Given the description of an element on the screen output the (x, y) to click on. 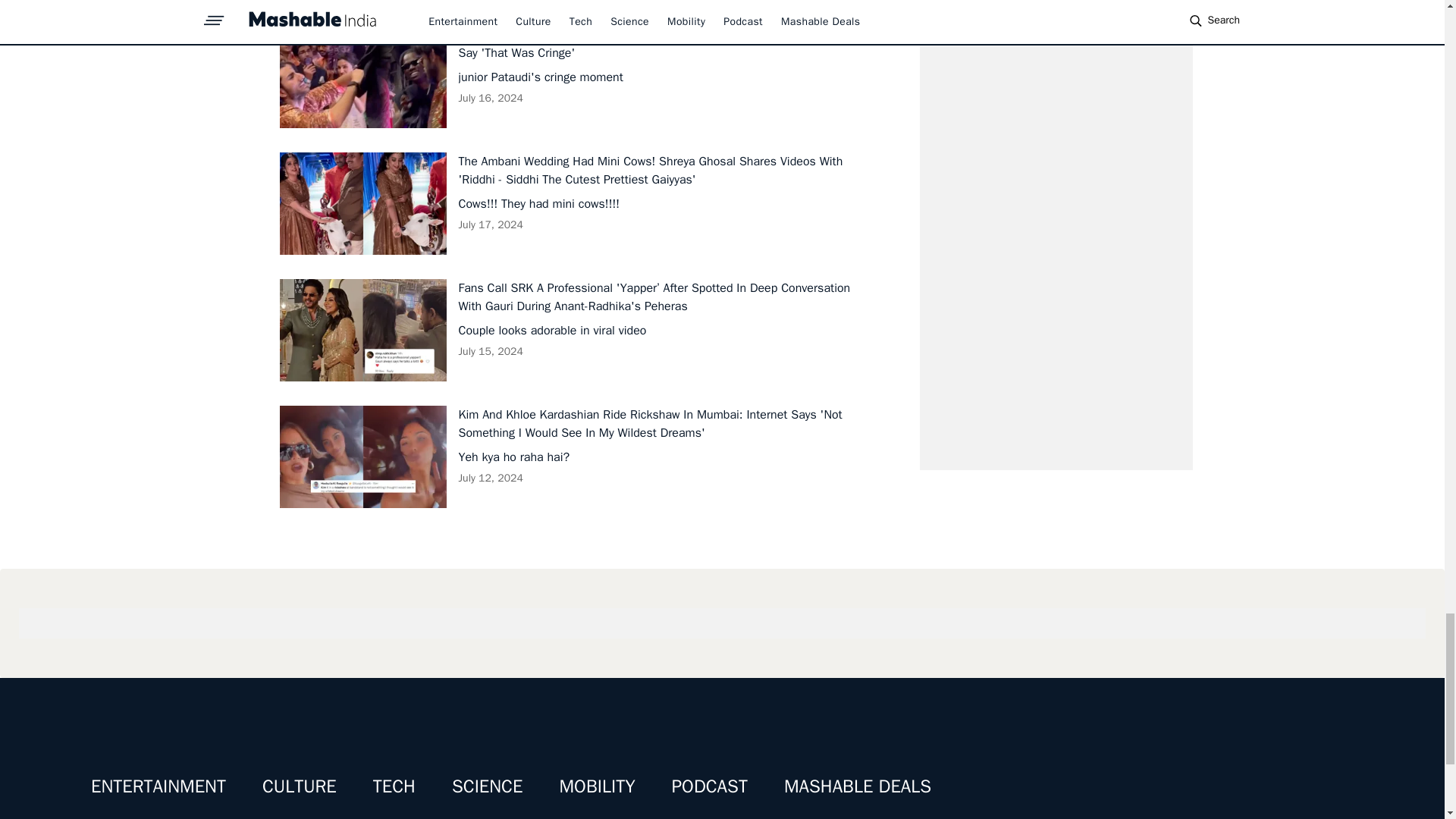
ENTERTAINMENT (157, 785)
